Given the description of an element on the screen output the (x, y) to click on. 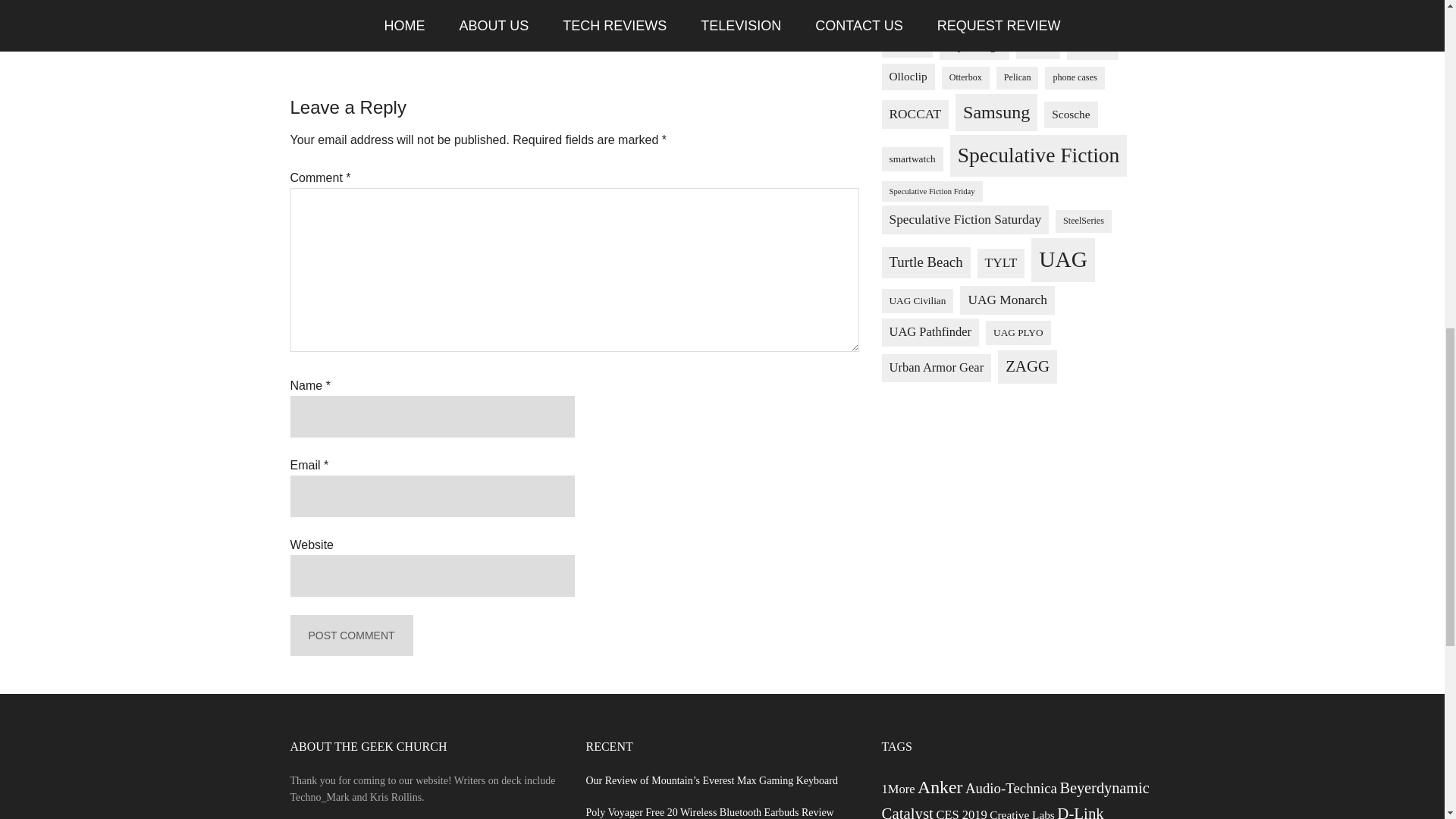
Post Comment (350, 635)
Post Comment (350, 635)
